Given the description of an element on the screen output the (x, y) to click on. 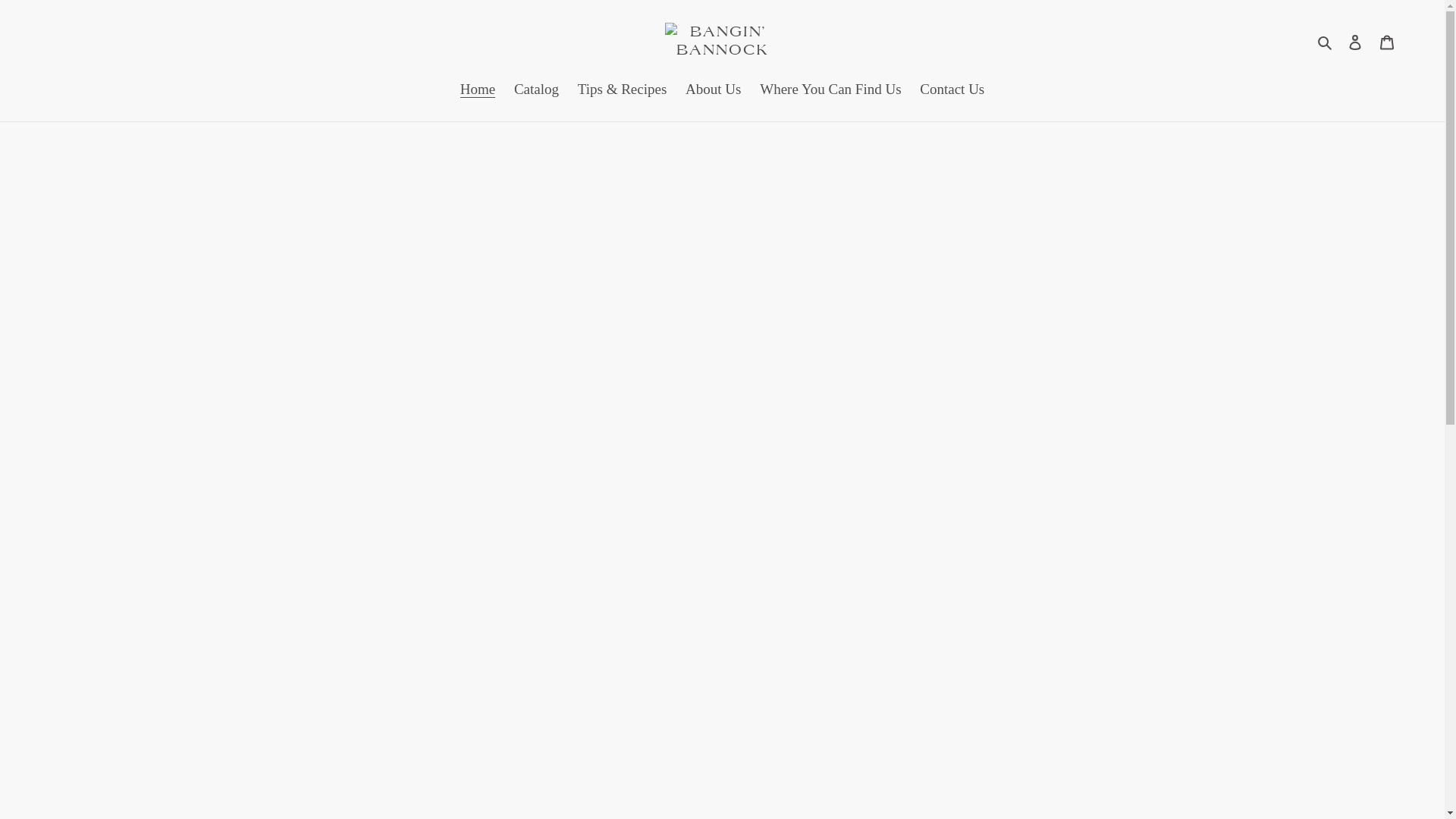
Search Element type: text (1325, 41)
Catalog Element type: text (536, 90)
Contact Us Element type: text (951, 90)
Tips & Recipes Element type: text (622, 90)
Where You Can Find Us Element type: text (830, 90)
Home Element type: text (477, 90)
About Us Element type: text (712, 90)
Cart Element type: text (1386, 40)
Log in Element type: text (1355, 40)
